Given the description of an element on the screen output the (x, y) to click on. 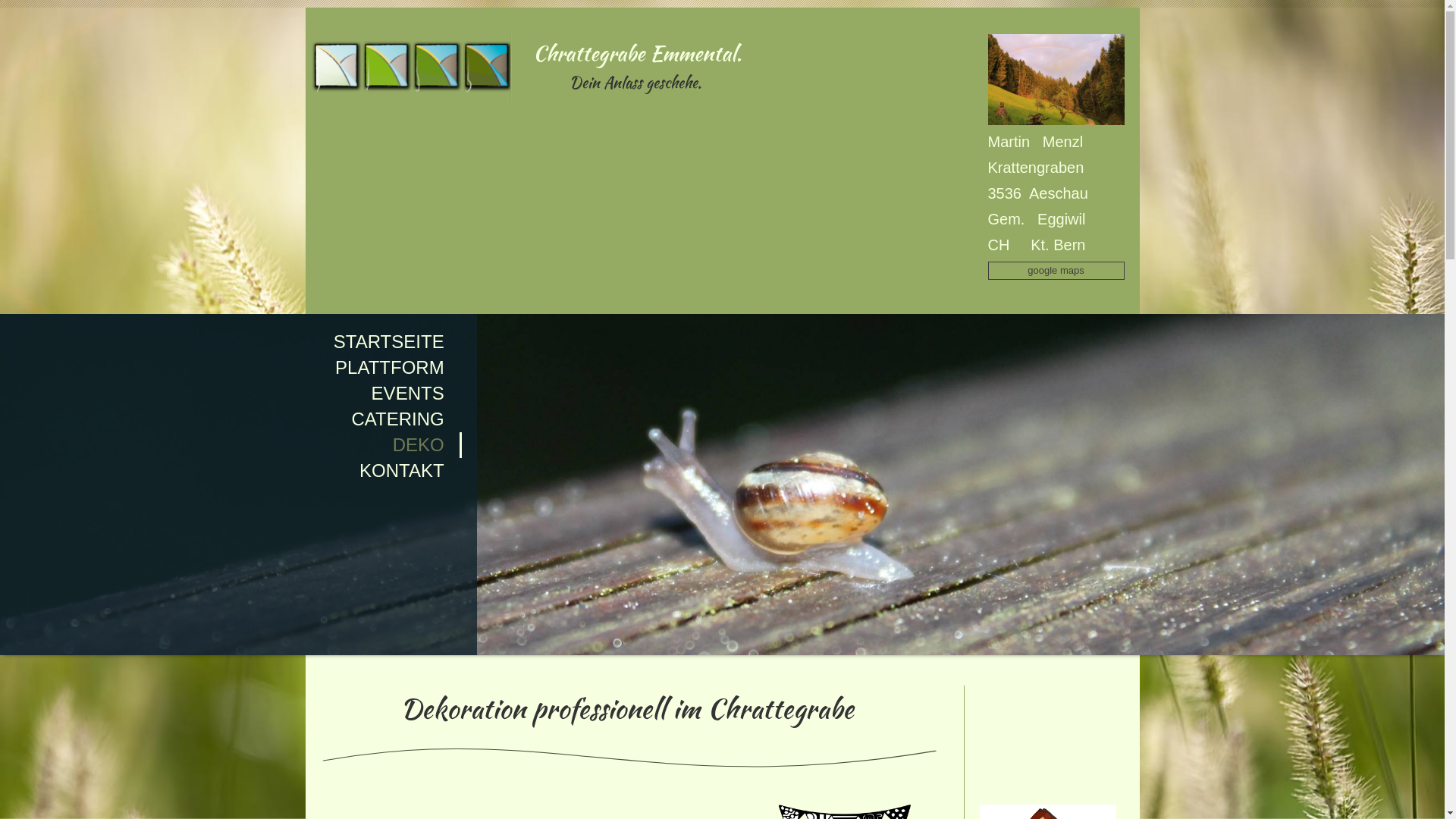
STARTSEITE Element type: text (230, 341)
  Element type: text (406, 37)
DEKO Element type: text (230, 445)
CATERING Element type: text (230, 419)
PLATTFORM Element type: text (230, 367)
google maps Element type: text (1055, 270)
KONTAKT Element type: text (230, 470)
EVENTS Element type: text (230, 393)
